Given the description of an element on the screen output the (x, y) to click on. 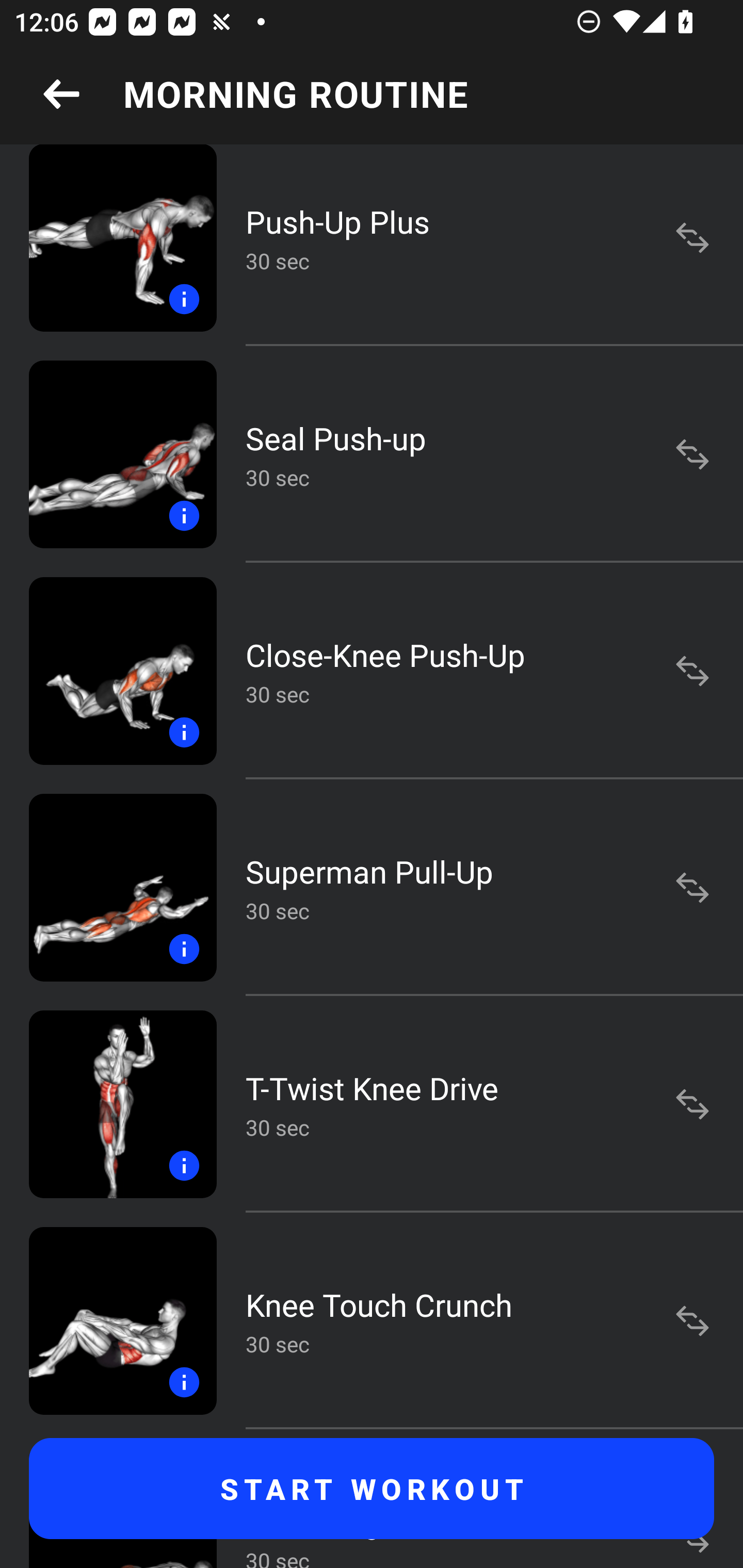
Push-Up Plus 30 sec (371, 245)
Seal Push-up 30 sec (371, 454)
Close-Knee Push-Up 30 sec (371, 670)
Superman Pull-Up 30 sec (371, 887)
T-Twist Knee Drive 30 sec (371, 1103)
Knee Touch Crunch 30 sec (371, 1321)
START WORKOUT (371, 1488)
